Given the description of an element on the screen output the (x, y) to click on. 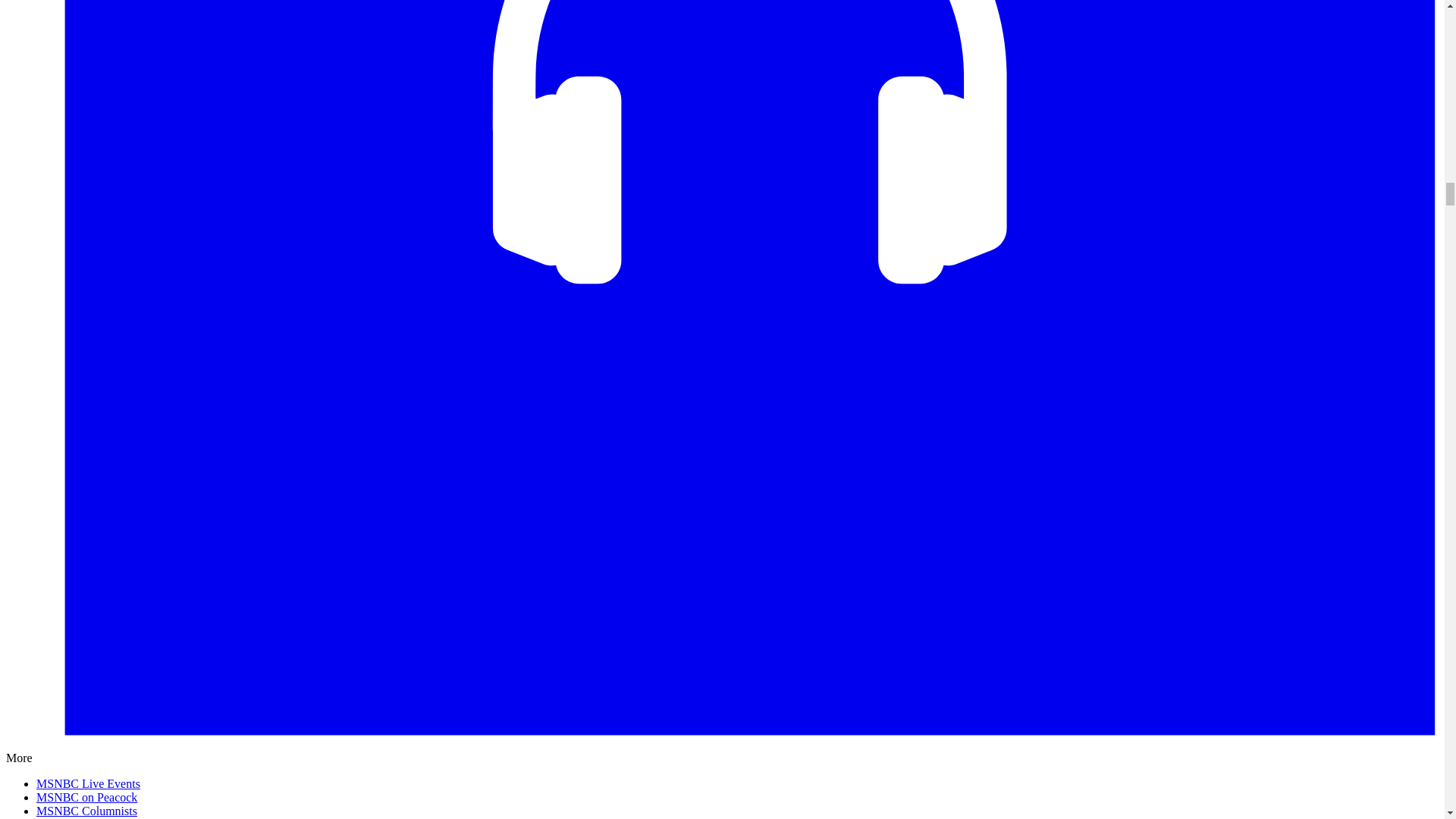
MSNBC Live Events (87, 783)
MSNBC on Peacock (86, 797)
